Given the description of an element on the screen output the (x, y) to click on. 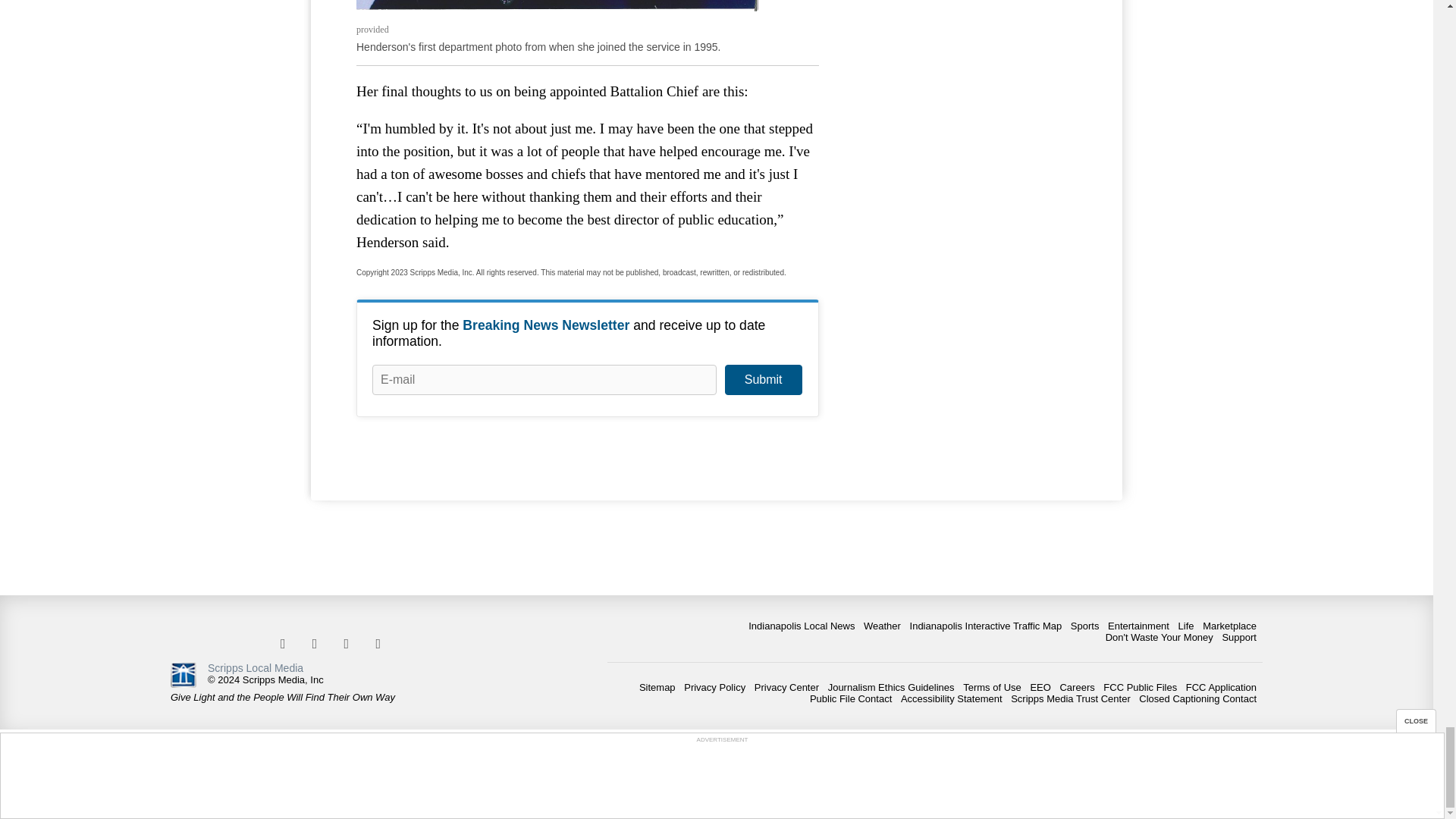
Submit (763, 379)
